Given the description of an element on the screen output the (x, y) to click on. 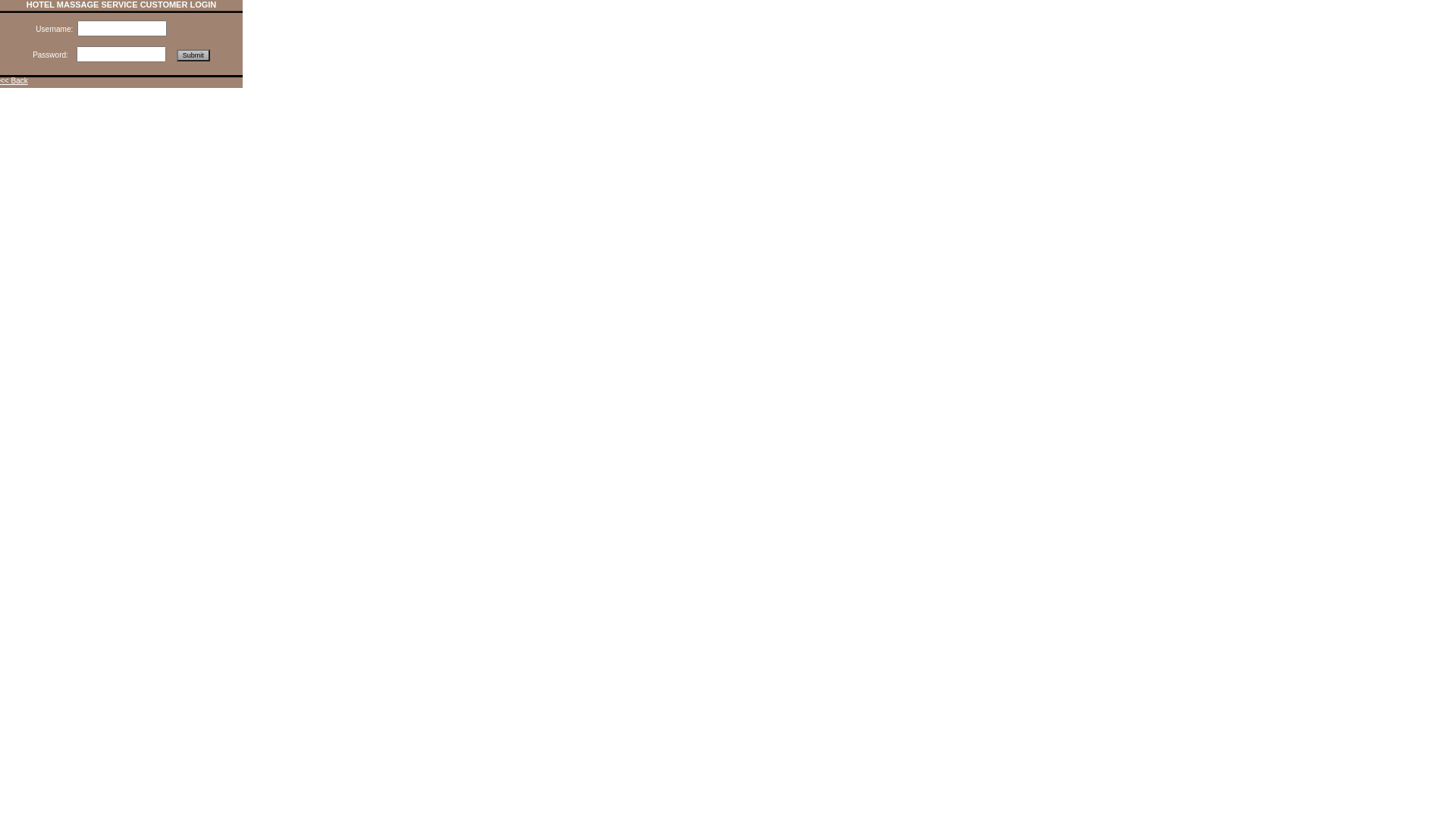
Submit Element type: text (193, 55)
<< Back Element type: text (14, 80)
